Given the description of an element on the screen output the (x, y) to click on. 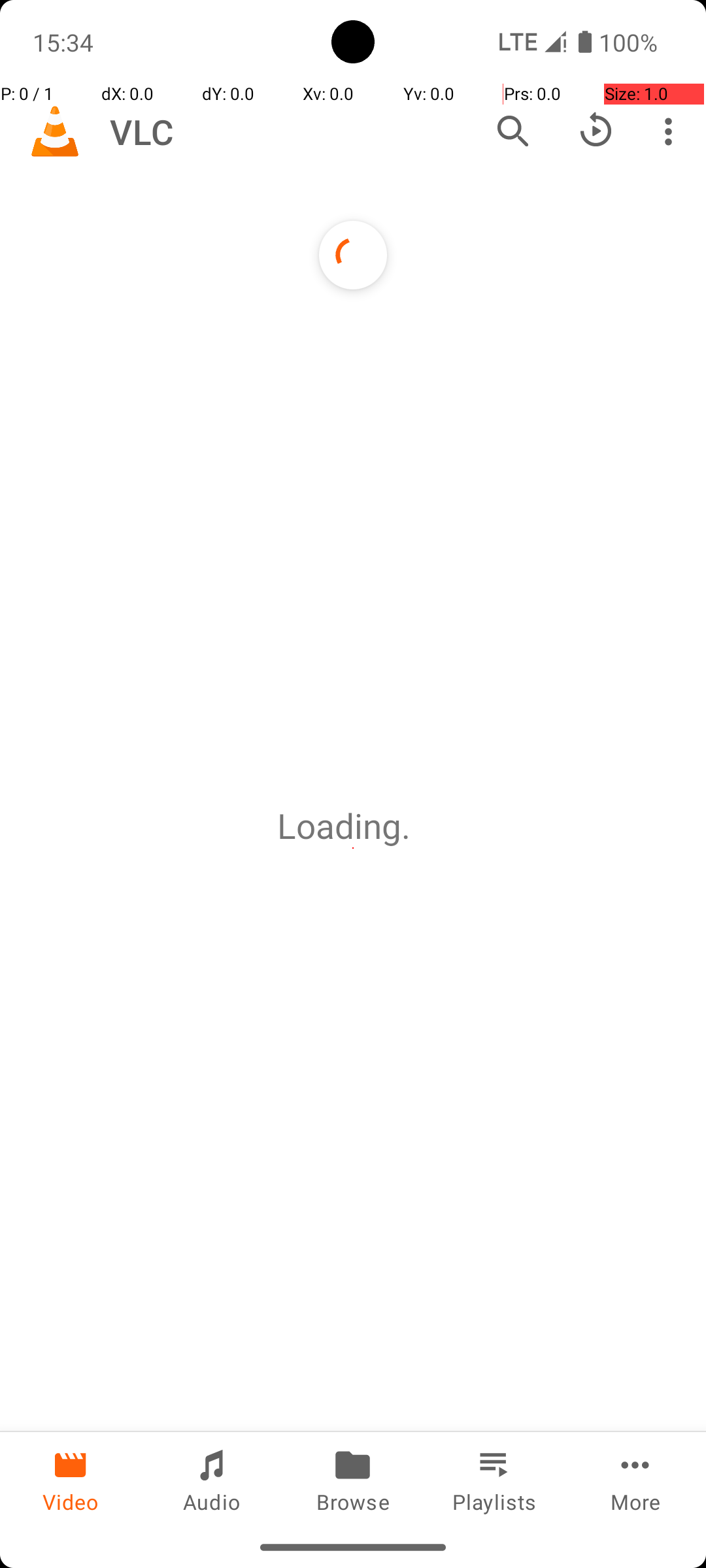
Resume playback Element type: android.widget.TextView (595, 131)
